Given the description of an element on the screen output the (x, y) to click on. 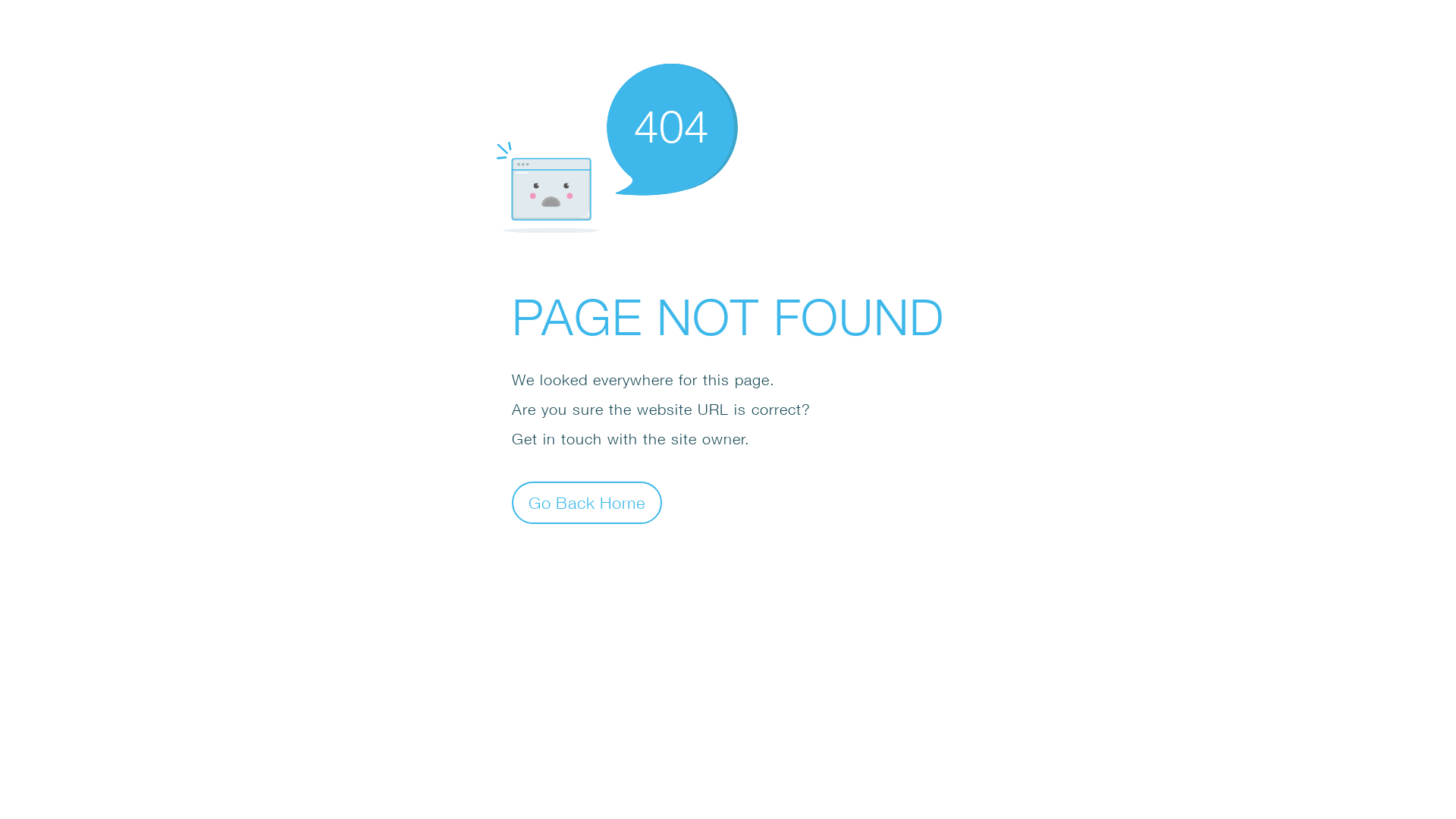
Go Back Home Element type: text (586, 502)
